Given the description of an element on the screen output the (x, y) to click on. 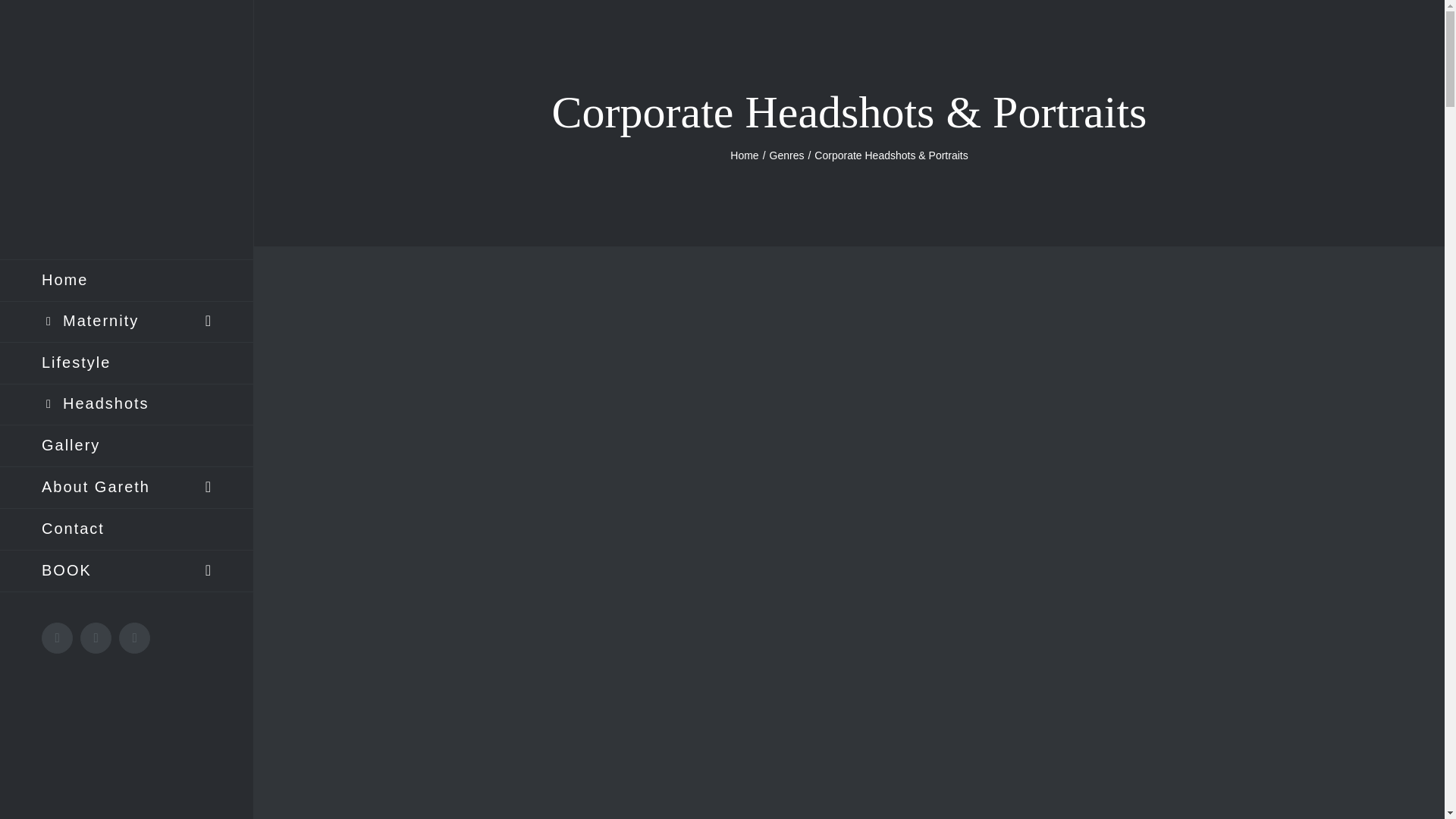
Facebook (96, 637)
Editorial Photography (126, 445)
Maternity (126, 322)
Instagram (57, 637)
Contact (126, 529)
Genres (787, 155)
Headshots (126, 404)
BOOK (126, 571)
Pinterest (134, 637)
Facebook (96, 637)
Pinterest (134, 637)
About Gareth (126, 487)
Lifestyle (126, 363)
Home (744, 155)
Home (126, 280)
